Given the description of an element on the screen output the (x, y) to click on. 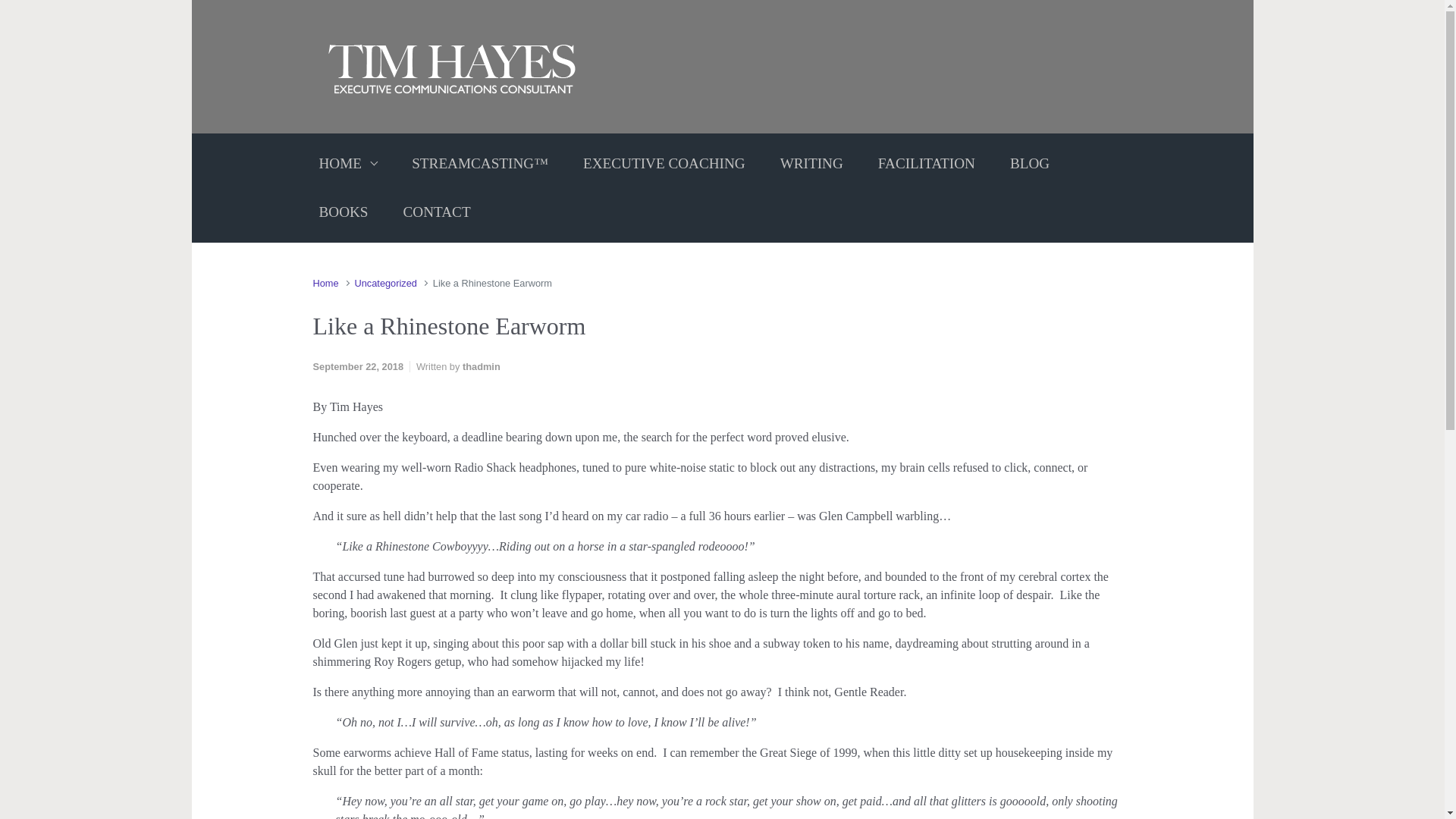
Uncategorized (384, 283)
Skip to main content (18, 10)
HOME (347, 163)
CONTACT (437, 212)
thadmin (481, 366)
WRITING (811, 163)
Home (325, 283)
EXECUTIVE COACHING (663, 163)
View all posts by thadmin (481, 366)
FACILITATION (926, 163)
